Given the description of an element on the screen output the (x, y) to click on. 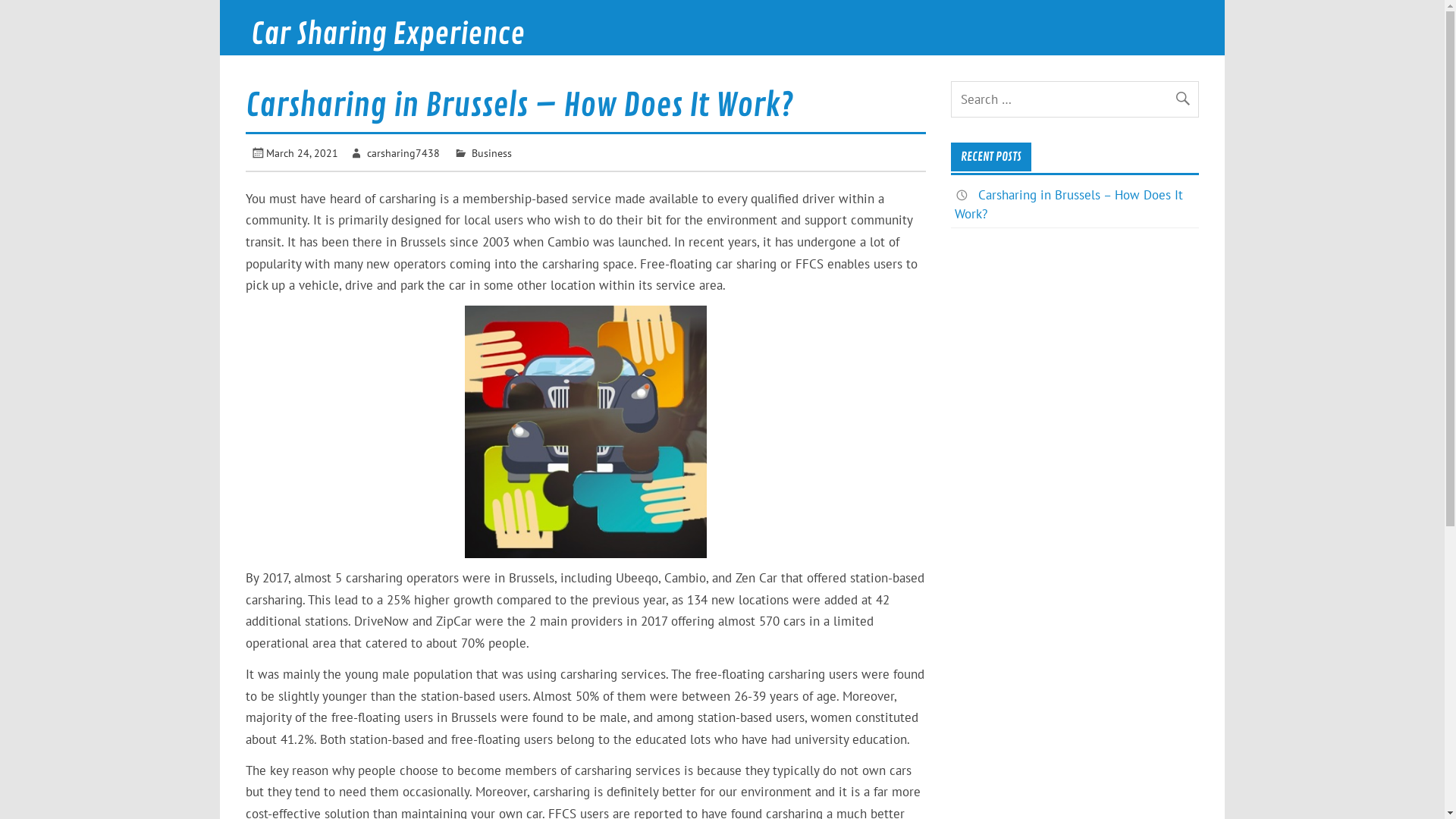
Car Sharing Experience Element type: text (387, 34)
carsharing7438 Element type: text (403, 152)
Business Element type: text (491, 152)
March 24, 2021 Element type: text (302, 152)
